Given the description of an element on the screen output the (x, y) to click on. 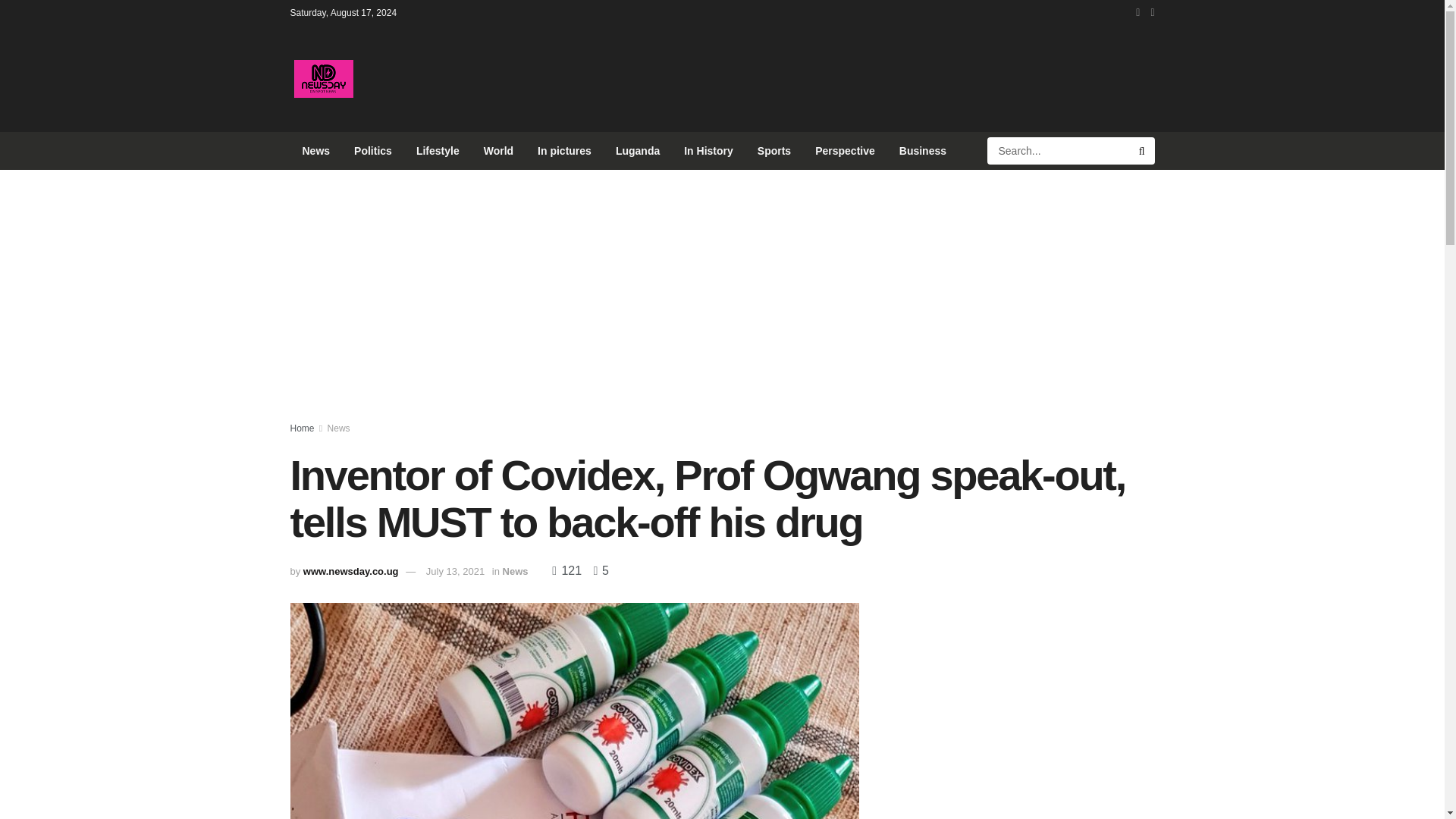
Sports (774, 150)
Home (301, 428)
Luganda (637, 150)
News (315, 150)
Advertisement (878, 76)
World (498, 150)
July 13, 2021 (455, 571)
Business (922, 150)
News (338, 428)
In pictures (564, 150)
